Given the description of an element on the screen output the (x, y) to click on. 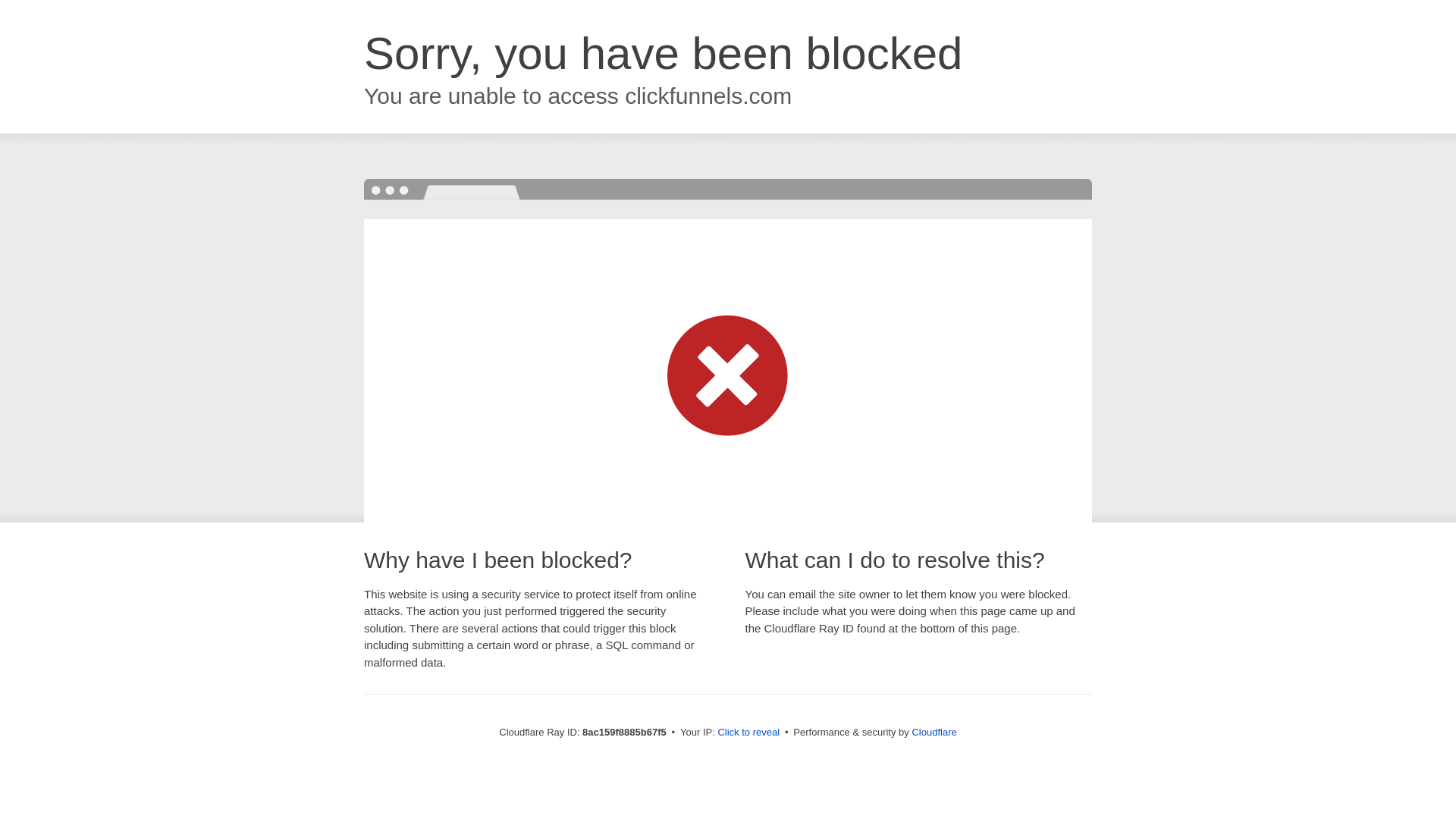
Cloudflare (933, 731)
Click to reveal (747, 732)
